Given the description of an element on the screen output the (x, y) to click on. 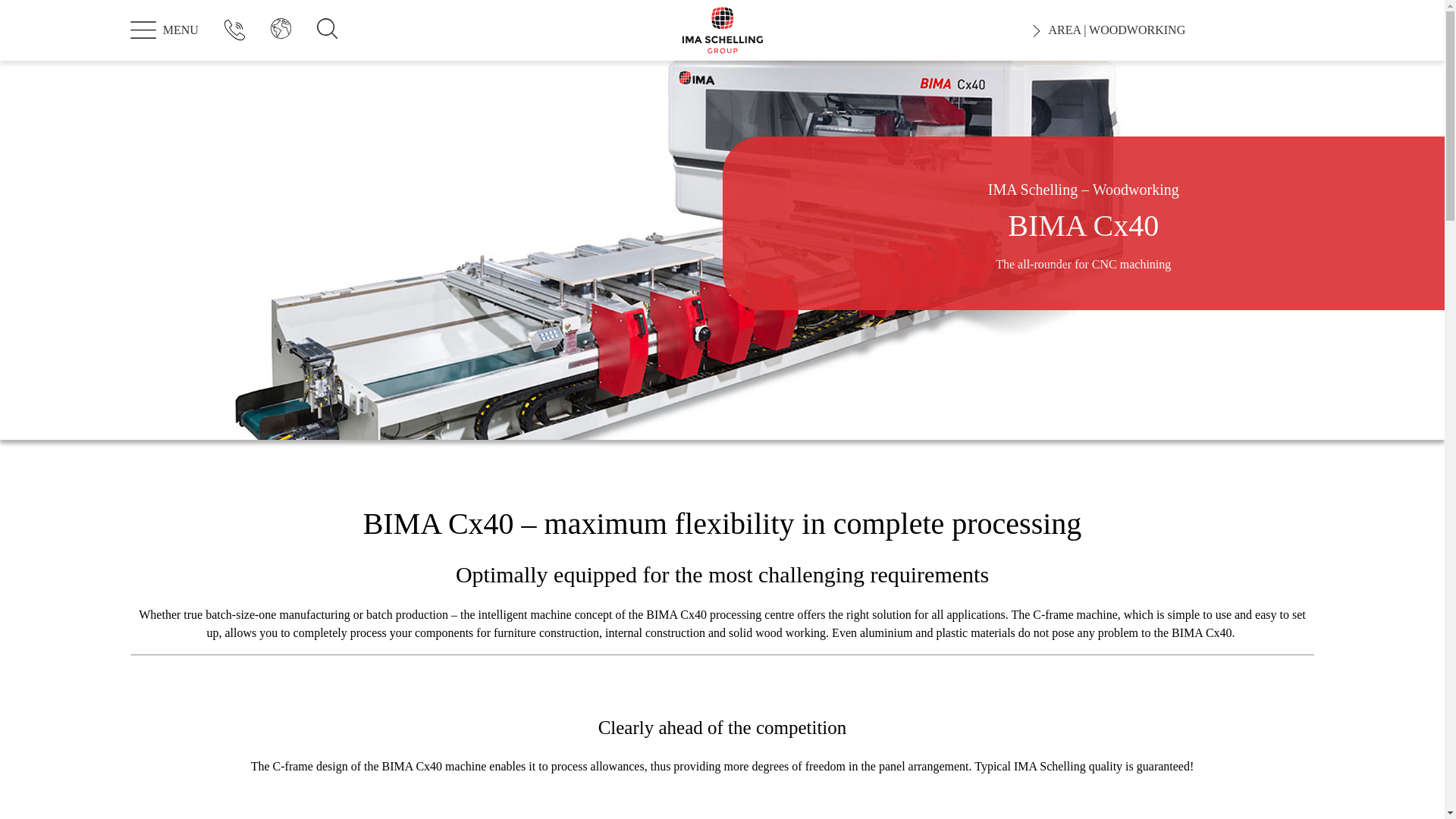
MENU (162, 29)
AREAWOODWORKING (1174, 29)
Contact us (234, 29)
